Given the description of an element on the screen output the (x, y) to click on. 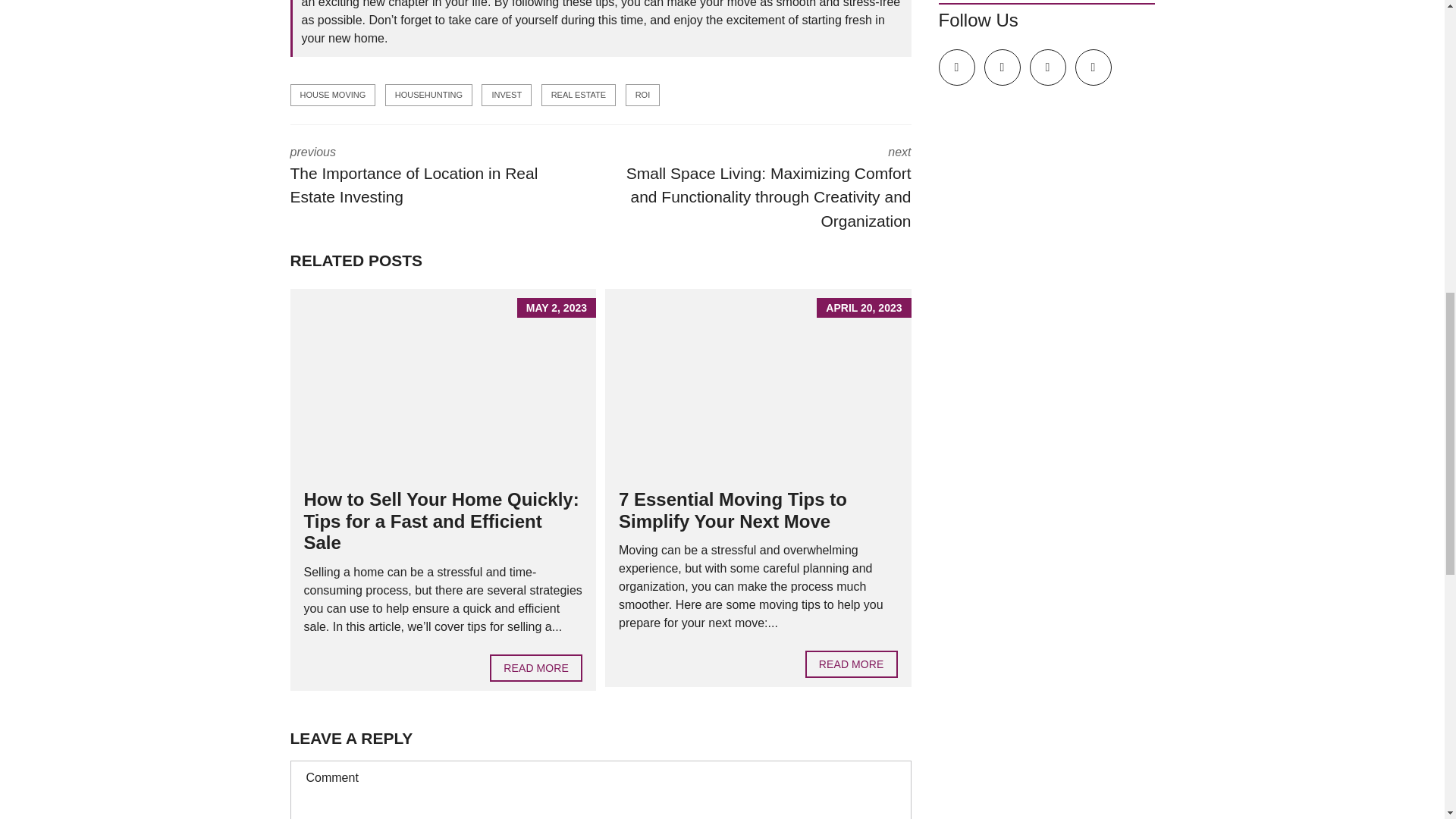
MAY 2, 2023 (442, 384)
REAL ESTATE (578, 95)
INVEST (506, 95)
HOUSEHUNTING (433, 177)
READ MORE (428, 95)
real estate (535, 667)
